Given the description of an element on the screen output the (x, y) to click on. 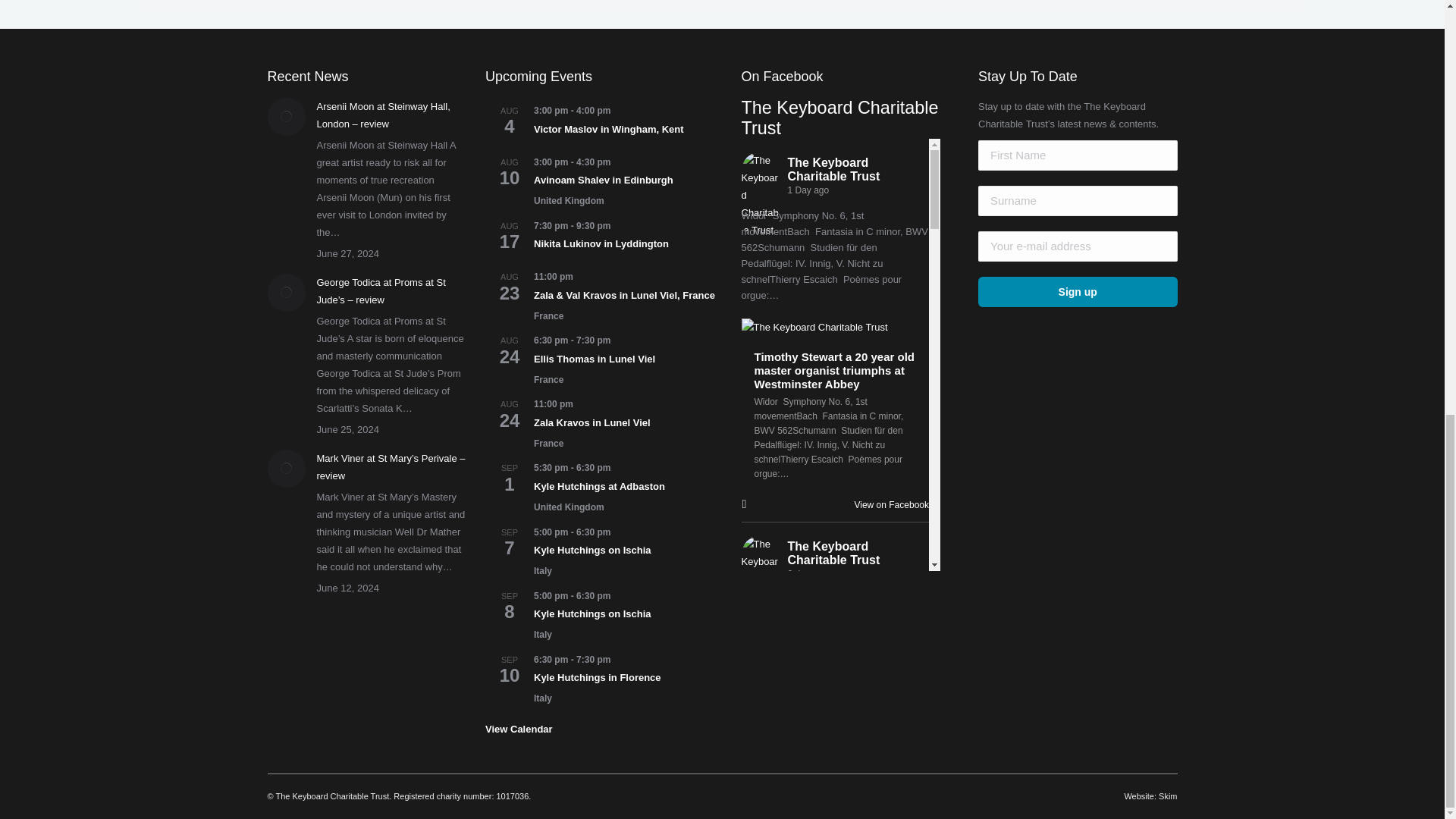
Sign up (1077, 291)
Nikita Lukinov in Lyddington (601, 244)
Ellis Thomas in Lunel Viel (594, 358)
Victor Maslov in Wingham, Kent (609, 129)
Avinoam Shalev in Edinburgh (603, 180)
